Given the description of an element on the screen output the (x, y) to click on. 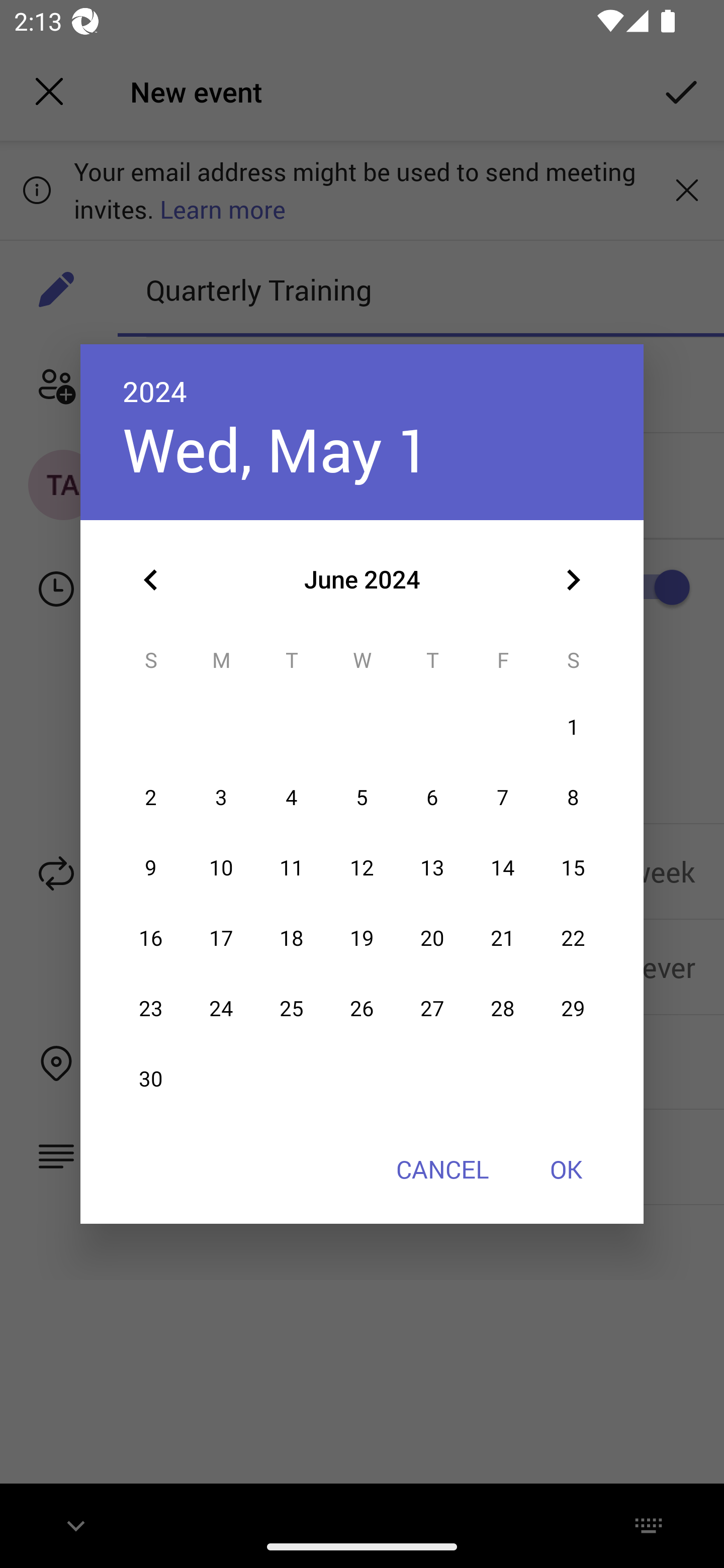
2024 (154, 391)
Wed, May 1 (276, 449)
Previous month (150, 579)
Next month (572, 579)
1 01 June 2024 (572, 728)
2 02 June 2024 (150, 797)
3 03 June 2024 (221, 797)
4 04 June 2024 (291, 797)
5 05 June 2024 (361, 797)
6 06 June 2024 (432, 797)
7 07 June 2024 (502, 797)
8 08 June 2024 (572, 797)
9 09 June 2024 (150, 867)
10 10 June 2024 (221, 867)
11 11 June 2024 (291, 867)
12 12 June 2024 (361, 867)
13 13 June 2024 (432, 867)
14 14 June 2024 (502, 867)
15 15 June 2024 (572, 867)
16 16 June 2024 (150, 938)
17 17 June 2024 (221, 938)
18 18 June 2024 (291, 938)
19 19 June 2024 (361, 938)
20 20 June 2024 (432, 938)
21 21 June 2024 (502, 938)
22 22 June 2024 (572, 938)
23 23 June 2024 (150, 1008)
24 24 June 2024 (221, 1008)
25 25 June 2024 (291, 1008)
26 26 June 2024 (361, 1008)
27 27 June 2024 (432, 1008)
28 28 June 2024 (502, 1008)
29 29 June 2024 (572, 1008)
30 30 June 2024 (150, 1079)
CANCEL (442, 1168)
OK (565, 1168)
